Given the description of an element on the screen output the (x, y) to click on. 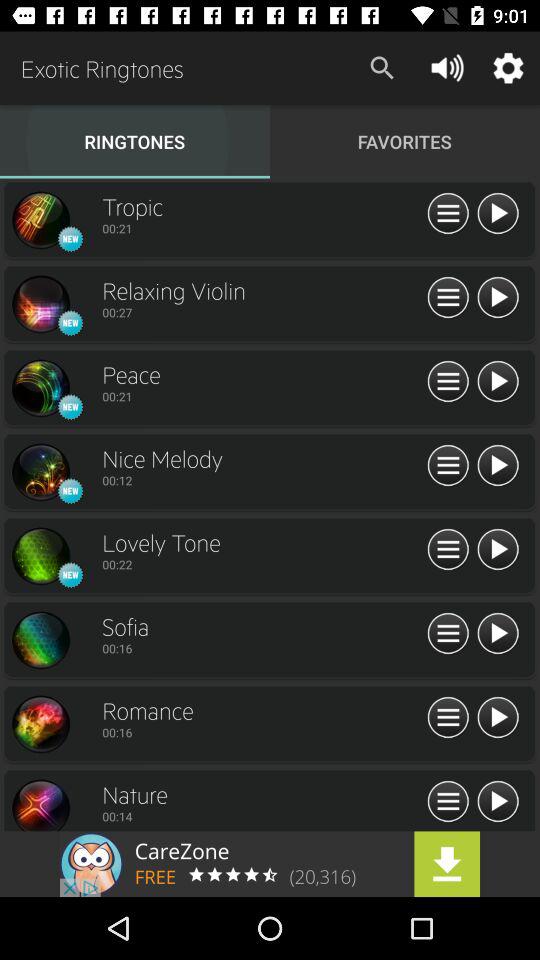
see menu options (447, 549)
